Given the description of an element on the screen output the (x, y) to click on. 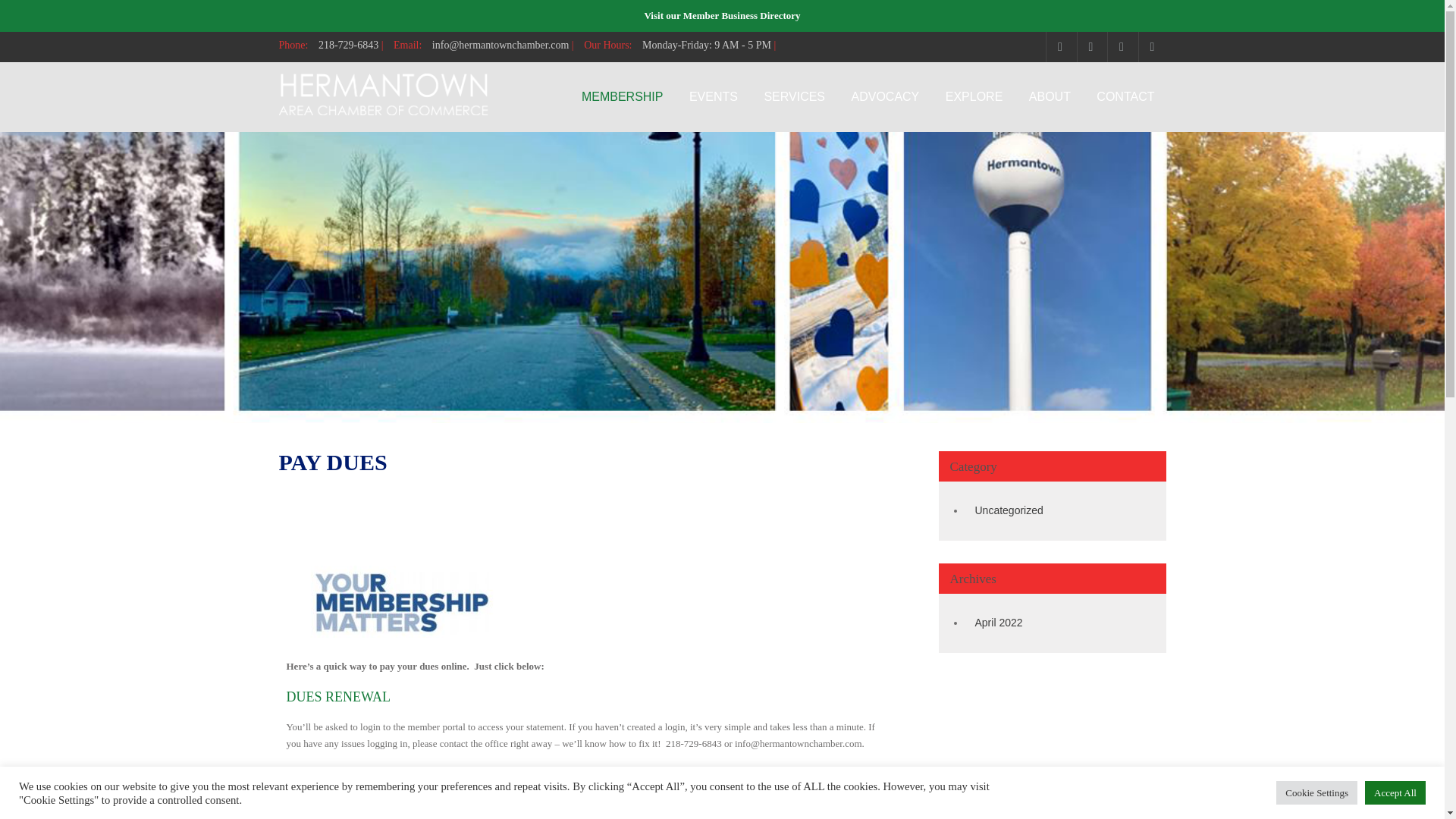
Member Business Directory (741, 15)
EXPLORE (974, 96)
ADVOCACY (885, 96)
MEMBERSHIP (622, 96)
SERVICES (793, 96)
EVENTS (713, 96)
